Given the description of an element on the screen output the (x, y) to click on. 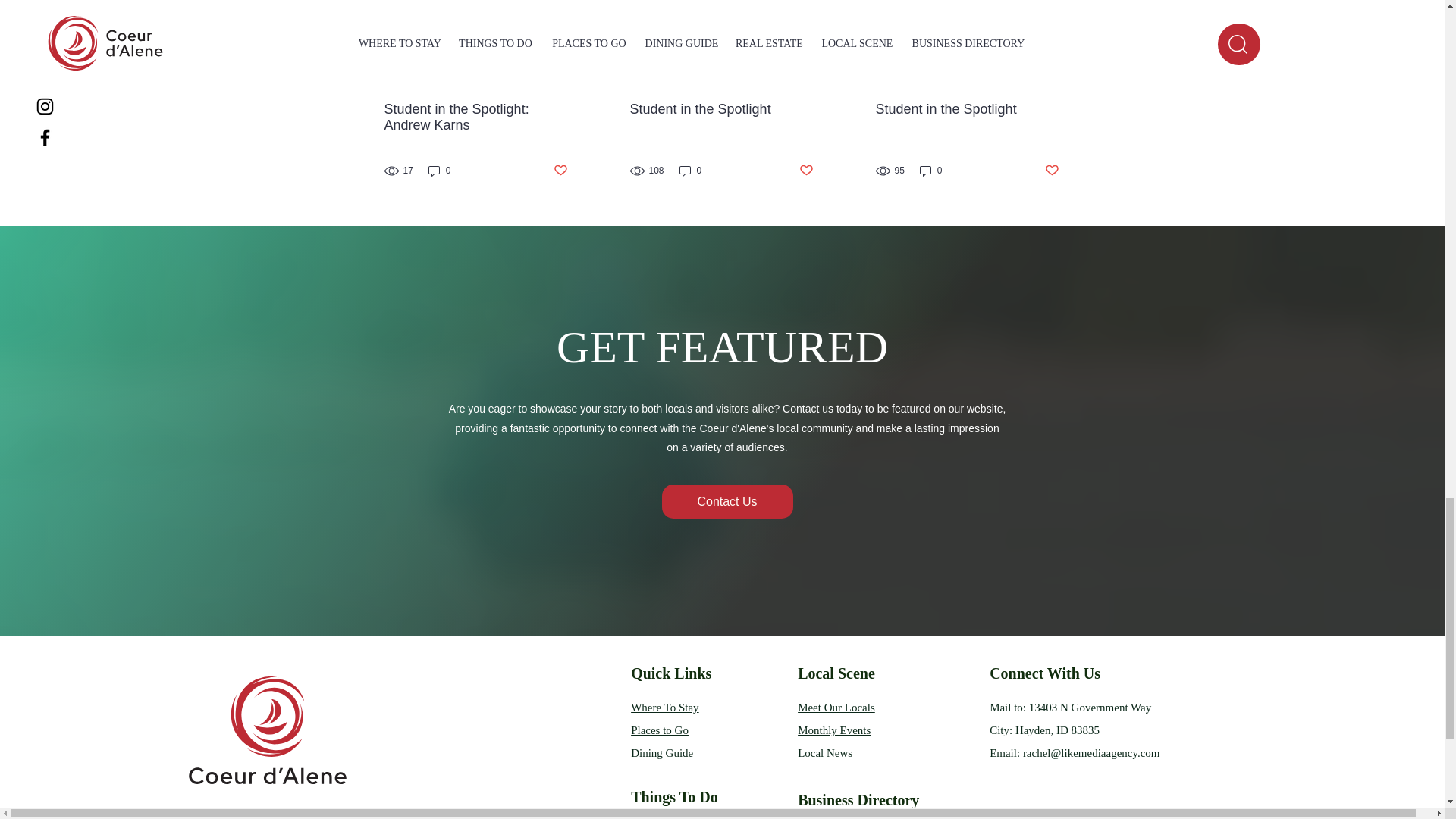
Student in the Spotlight (720, 109)
Student in the Spotlight: Andrew Karns (475, 117)
0 (690, 170)
0 (439, 170)
Post not marked as liked (806, 170)
Post not marked as liked (560, 170)
Student in the Spotlight (966, 109)
